Given the description of an element on the screen output the (x, y) to click on. 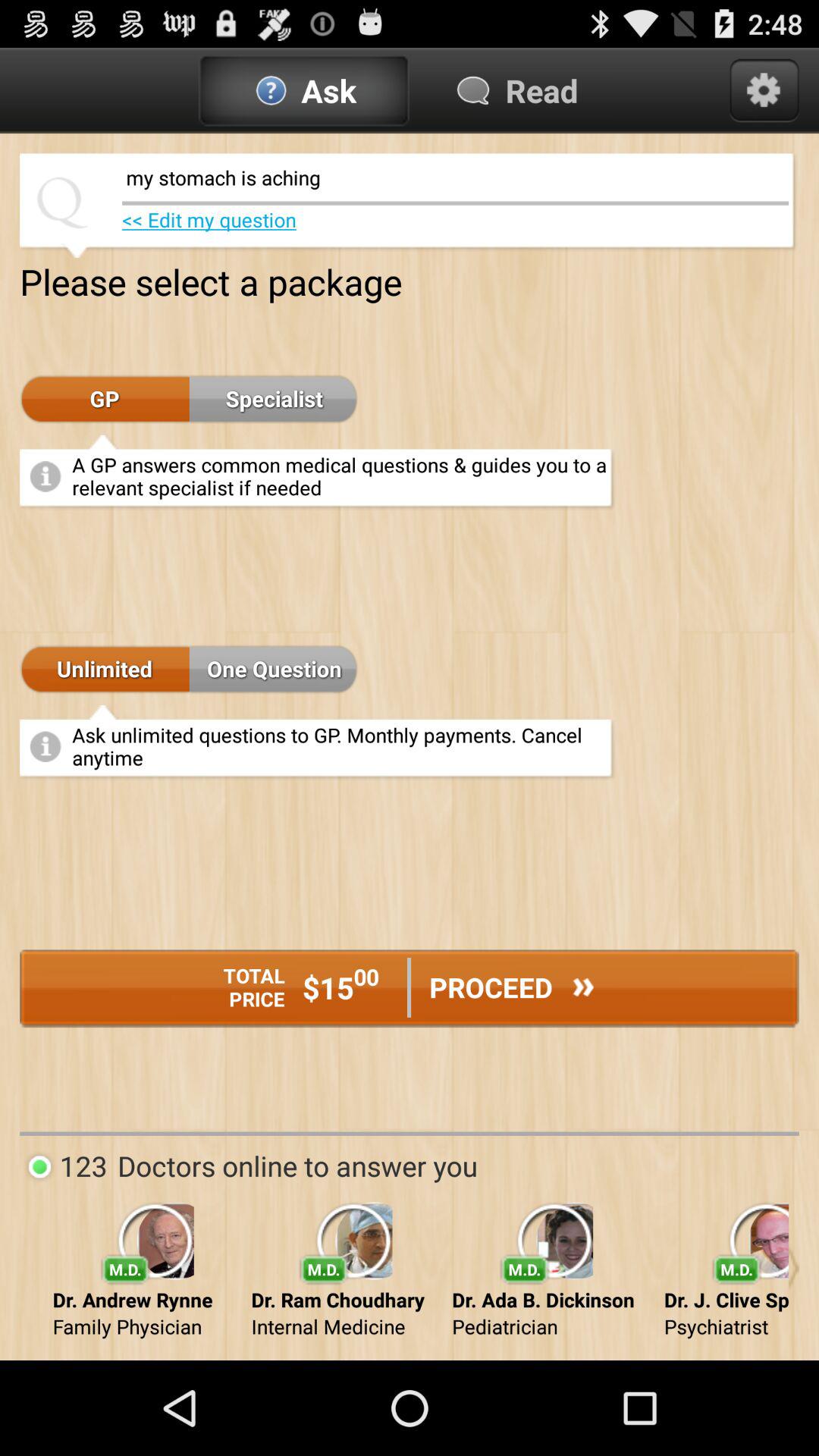
press icon above my stomach is (764, 90)
